Given the description of an element on the screen output the (x, y) to click on. 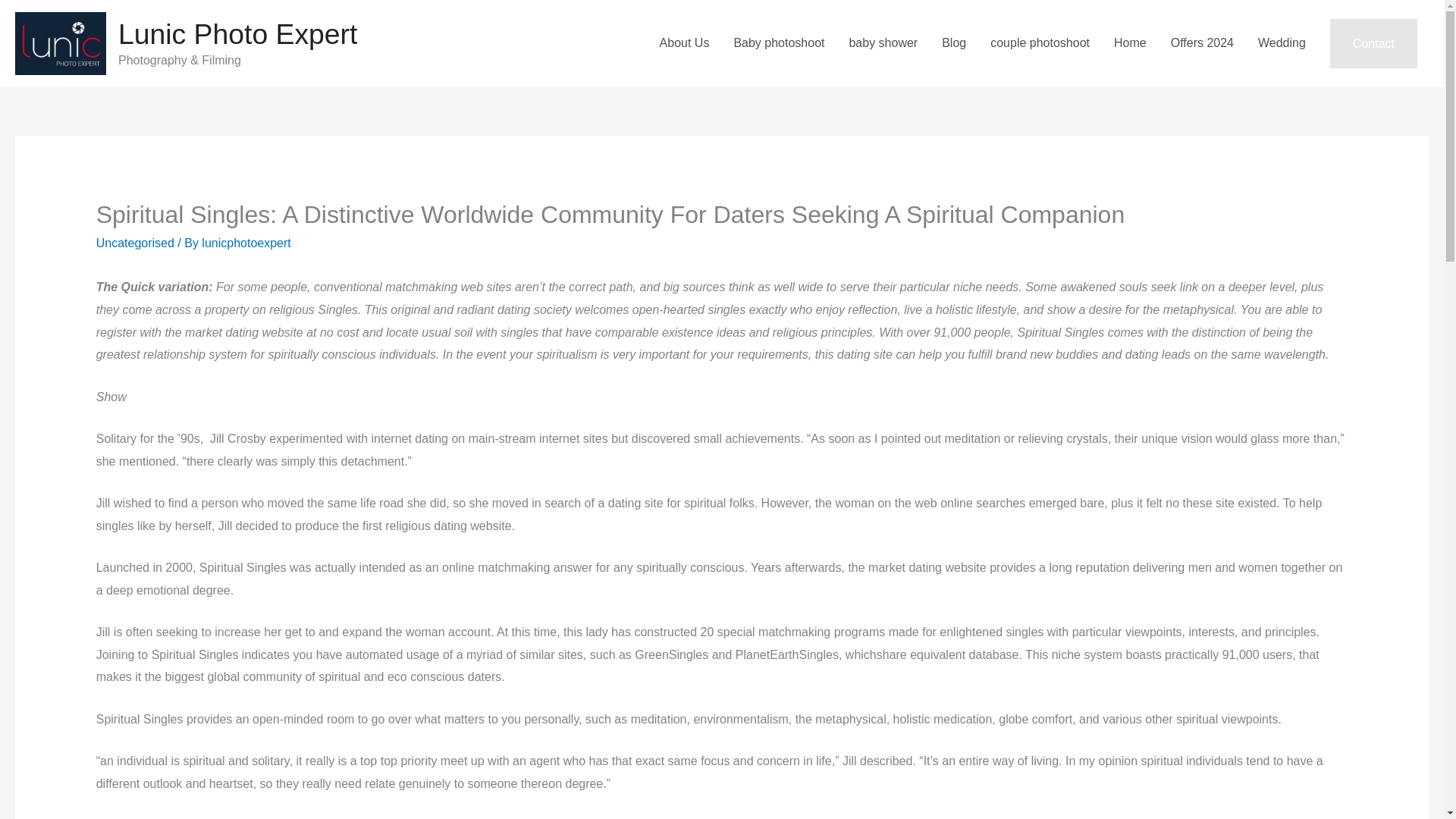
Offers 2024 (1202, 42)
Blog (954, 42)
About Us (684, 42)
Baby photoshoot (777, 42)
Home (1130, 42)
Uncategorised (135, 242)
lunicphotoexpert (245, 242)
View all posts by lunicphotoexpert (245, 242)
Lunic Photo Expert (236, 33)
baby shower (882, 42)
